Given the description of an element on the screen output the (x, y) to click on. 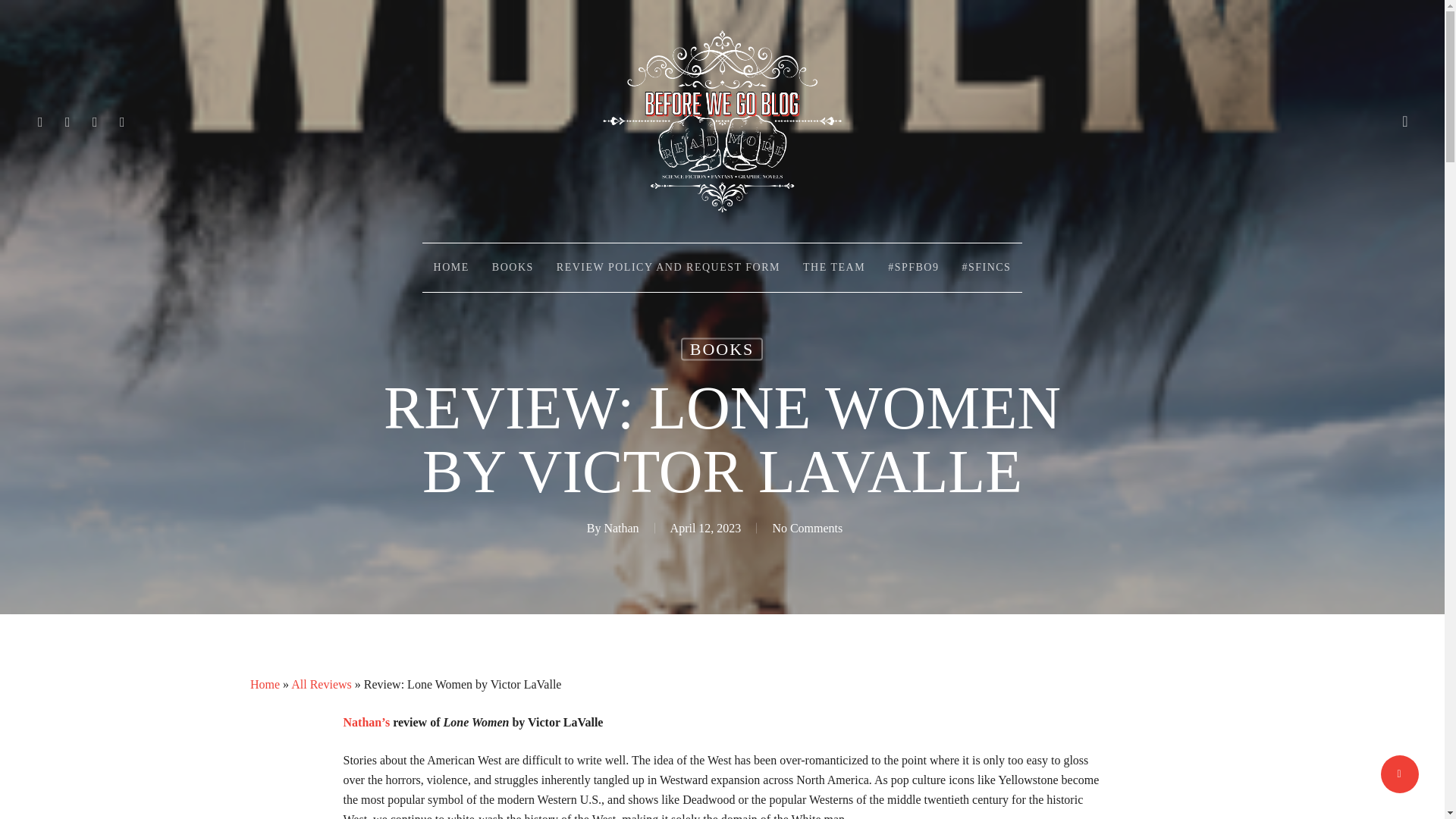
REVIEW POLICY AND REQUEST FORM (668, 267)
Posts by Nathan (621, 527)
No Comments (807, 527)
BOOKS (512, 267)
Home (264, 684)
BOOKS (721, 349)
TWITTER (41, 121)
PINTEREST (95, 121)
Nathan (621, 527)
INSTAGRAM (122, 121)
search (1404, 121)
All Reviews (321, 684)
HOME (451, 267)
FACEBOOK (68, 121)
THE TEAM (834, 267)
